Given the description of an element on the screen output the (x, y) to click on. 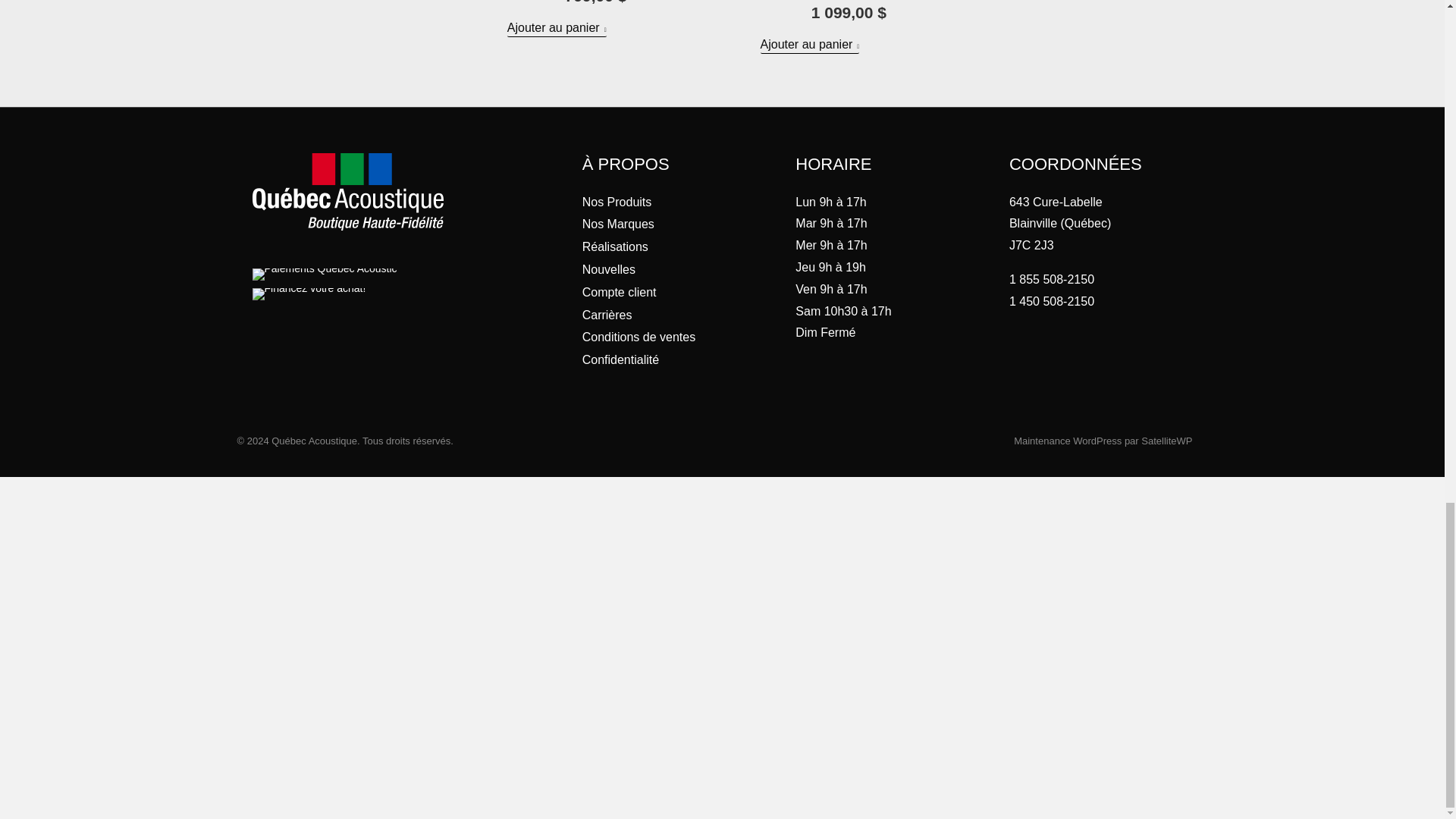
logos-paiement (323, 274)
footer-logo.svg (347, 191)
Financez votre achat! (308, 294)
Maintenance de sites web WordPress (1067, 440)
